Given the description of an element on the screen output the (x, y) to click on. 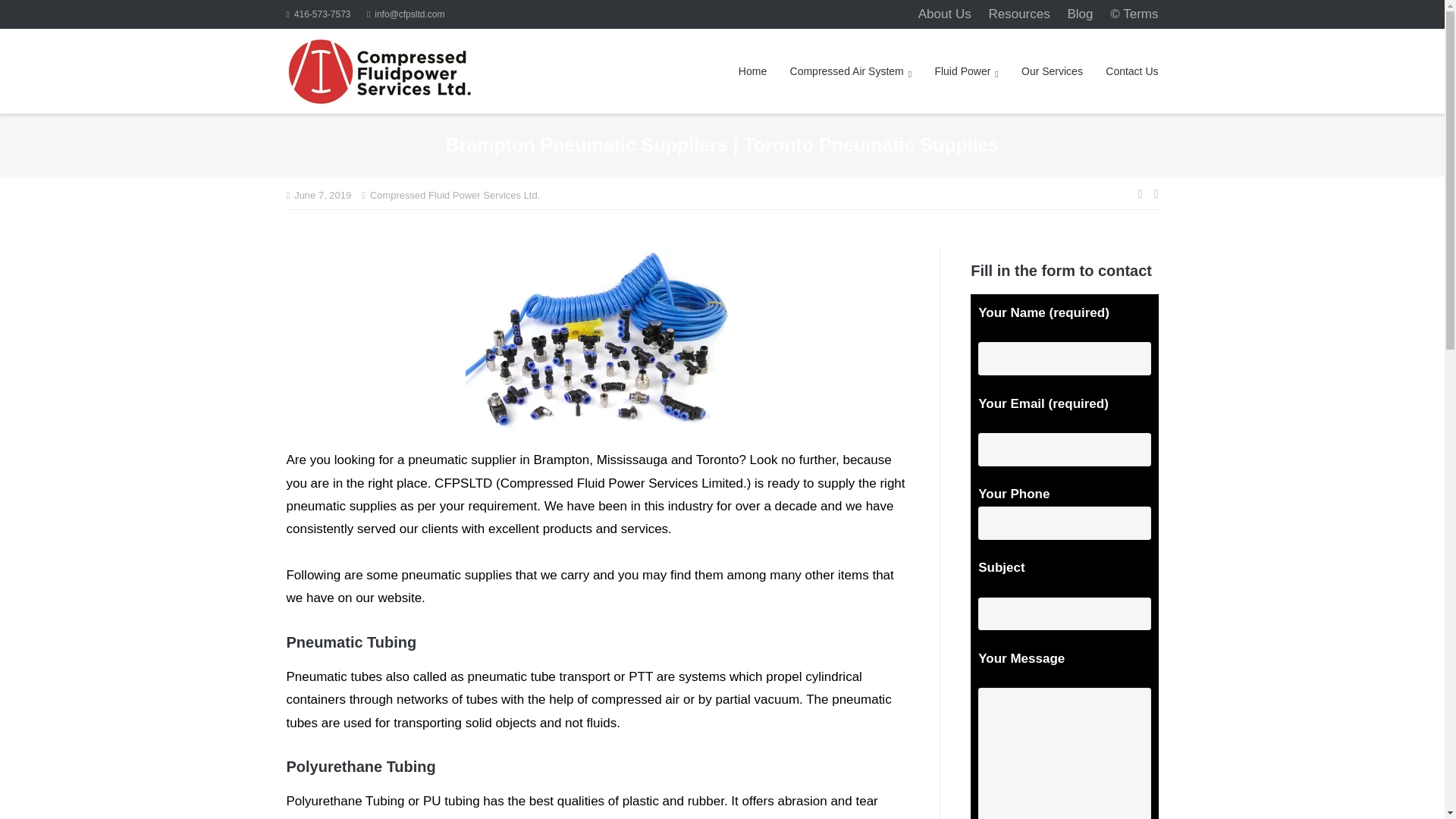
About Us (944, 14)
Blog (1080, 14)
Compressed Fluid Power Services Ltd. (454, 194)
416-573-7573 (317, 14)
Resources (1018, 14)
Compressed Air System (851, 70)
